Given the description of an element on the screen output the (x, y) to click on. 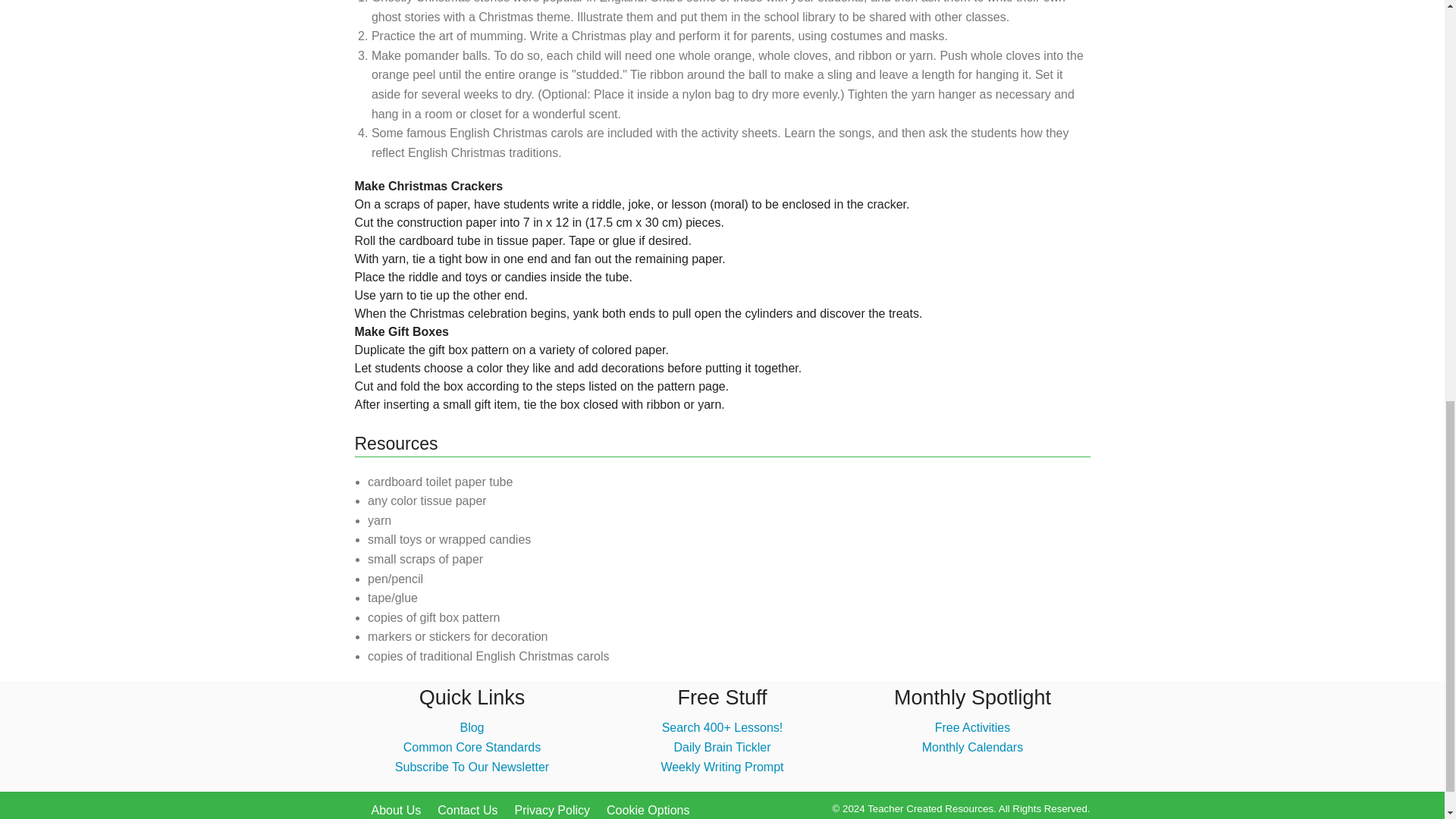
Cookie Options (647, 809)
Common Core Standards (471, 747)
Free Activities (972, 727)
Contact Us (467, 809)
About Us (396, 809)
Privacy Policy (551, 809)
Cookie Options (647, 809)
Daily Brain Tickler (721, 747)
Subscribe To Our Newsletter (471, 766)
Company Info (396, 809)
Monthly Calendars (972, 747)
Privacy Policy (551, 809)
Blog (471, 727)
Weekly Writing Prompt (722, 766)
